Given the description of an element on the screen output the (x, y) to click on. 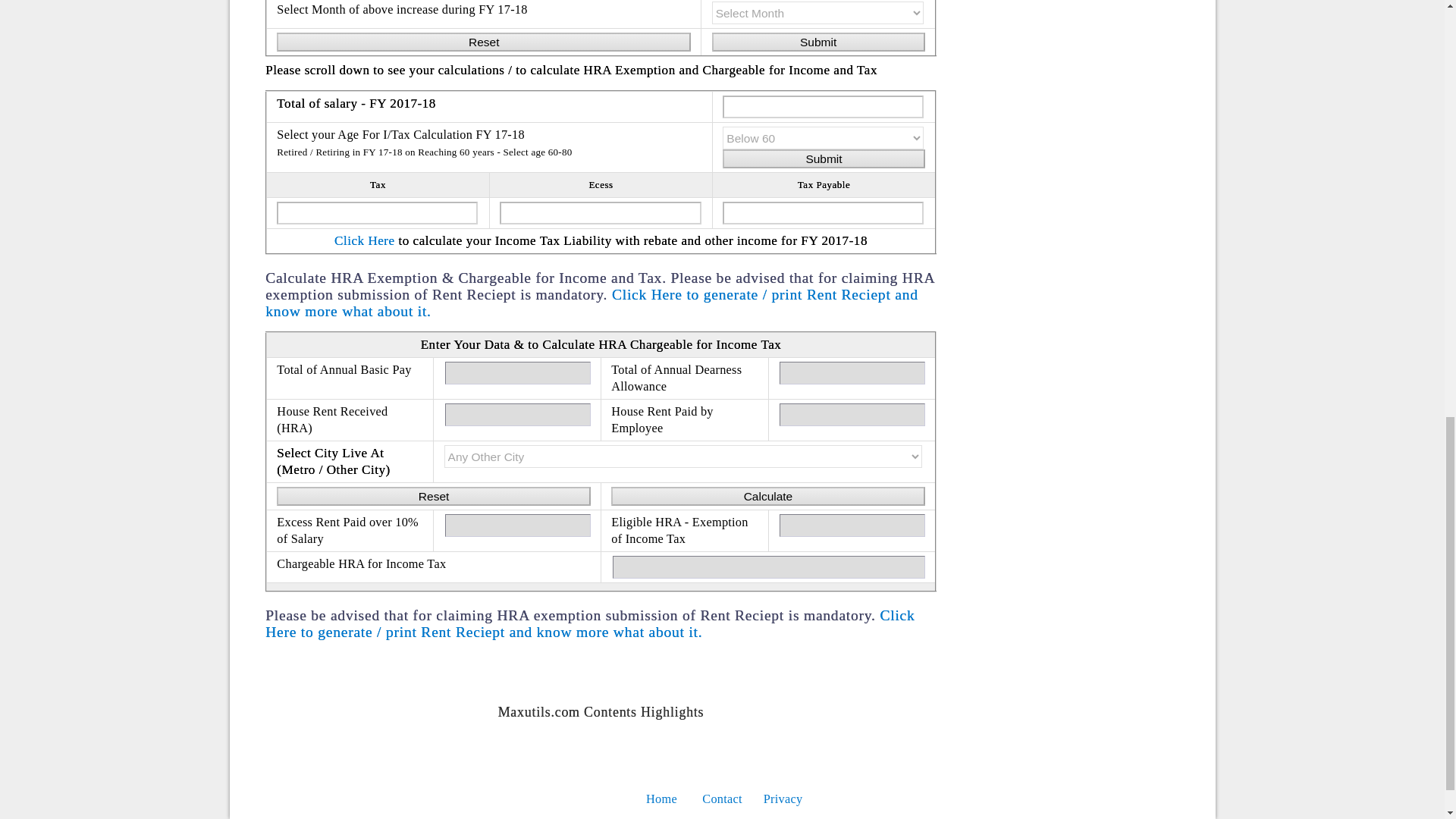
Home (660, 799)
Submit (823, 158)
Click Here (364, 240)
Calculate (767, 496)
Reset (483, 41)
Reset (432, 496)
Privacy (782, 799)
Submit (817, 41)
Contact (721, 799)
